Given the description of an element on the screen output the (x, y) to click on. 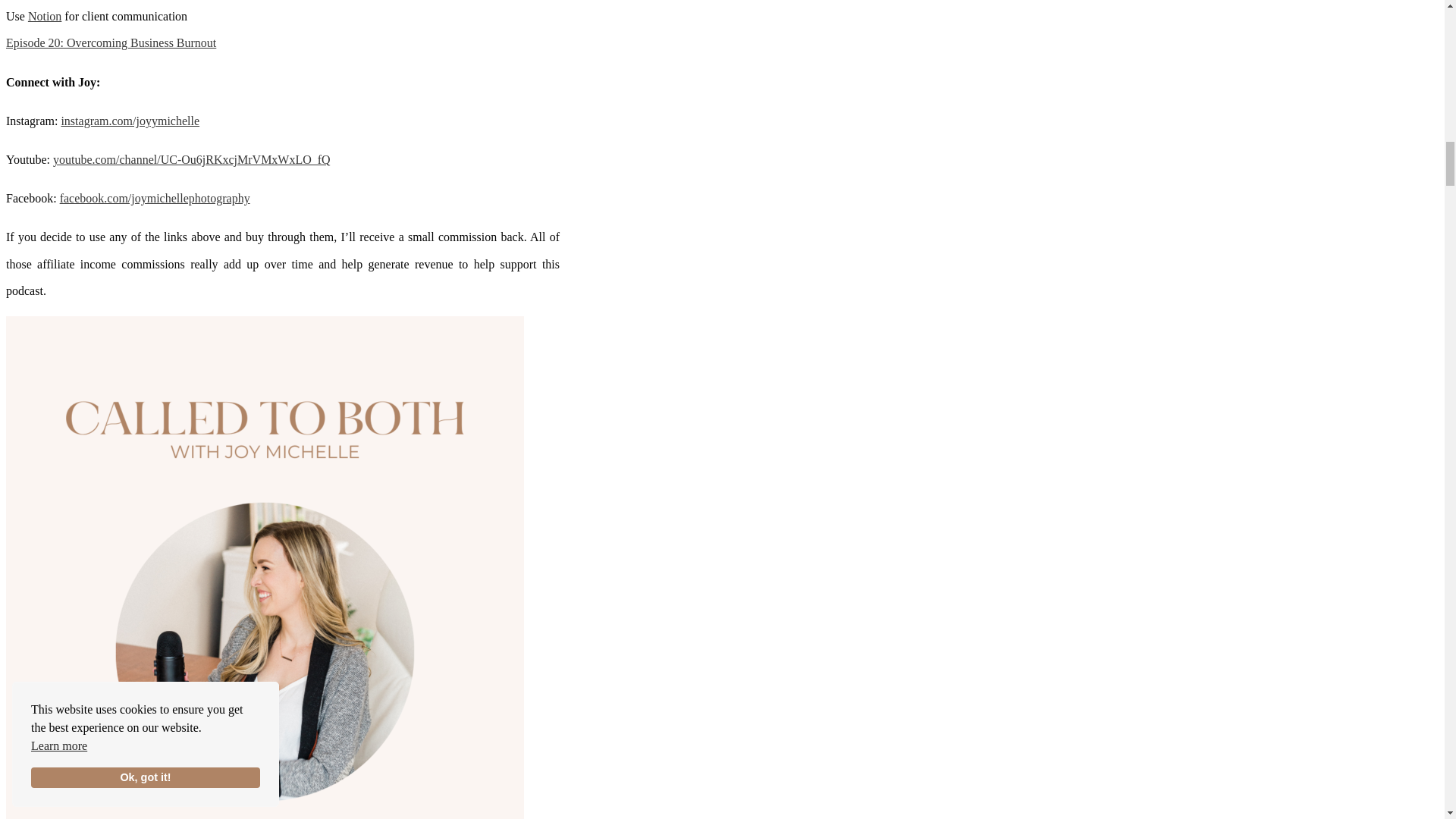
Episode 20: Overcoming Business Burnout (110, 42)
Notion (44, 15)
